Given the description of an element on the screen output the (x, y) to click on. 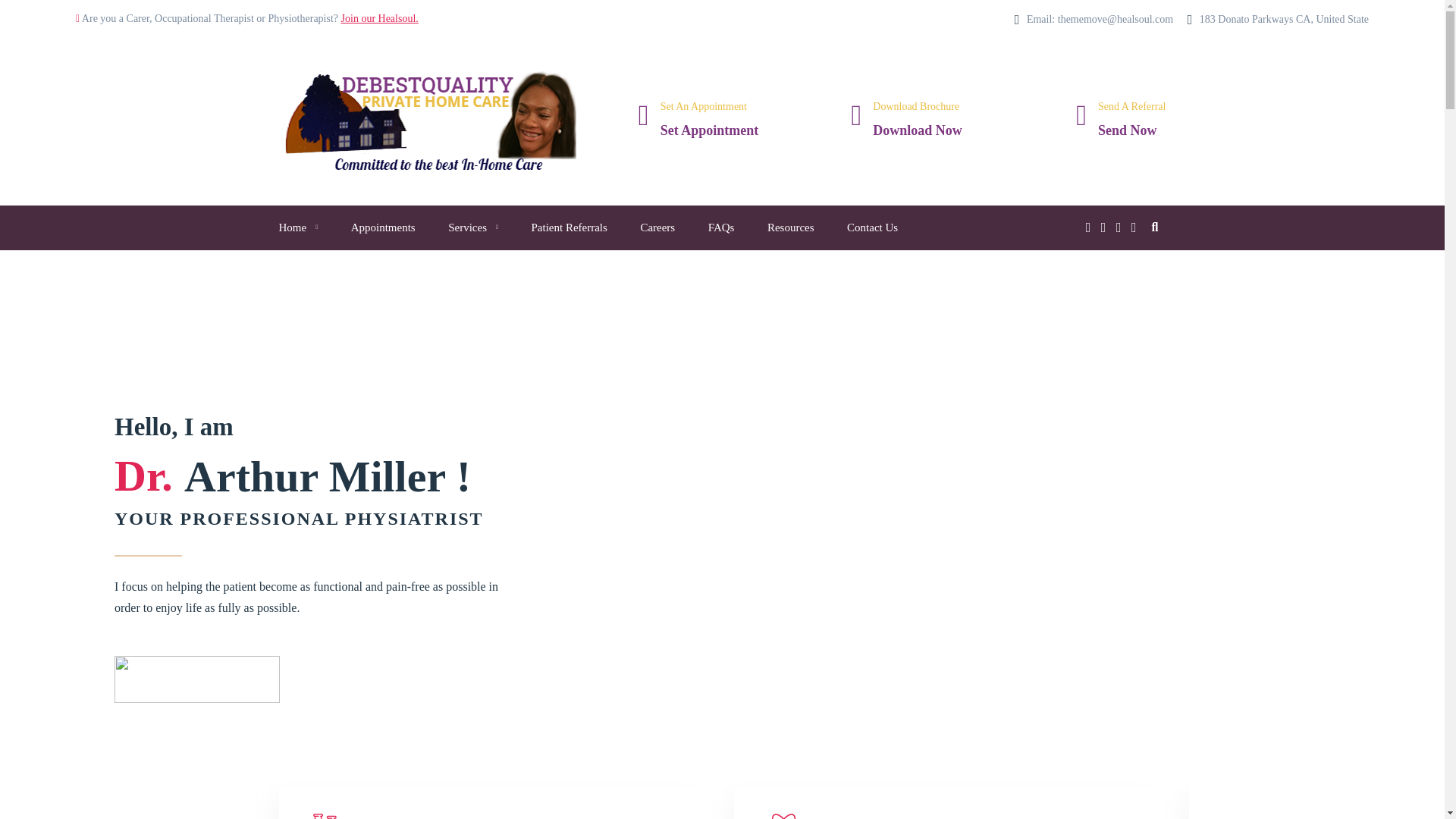
Contact Us (872, 227)
Appointments (382, 227)
Resources (790, 227)
Services (472, 227)
Patient Referrals (1131, 121)
Join our Healsoul. (709, 121)
